Given the description of an element on the screen output the (x, y) to click on. 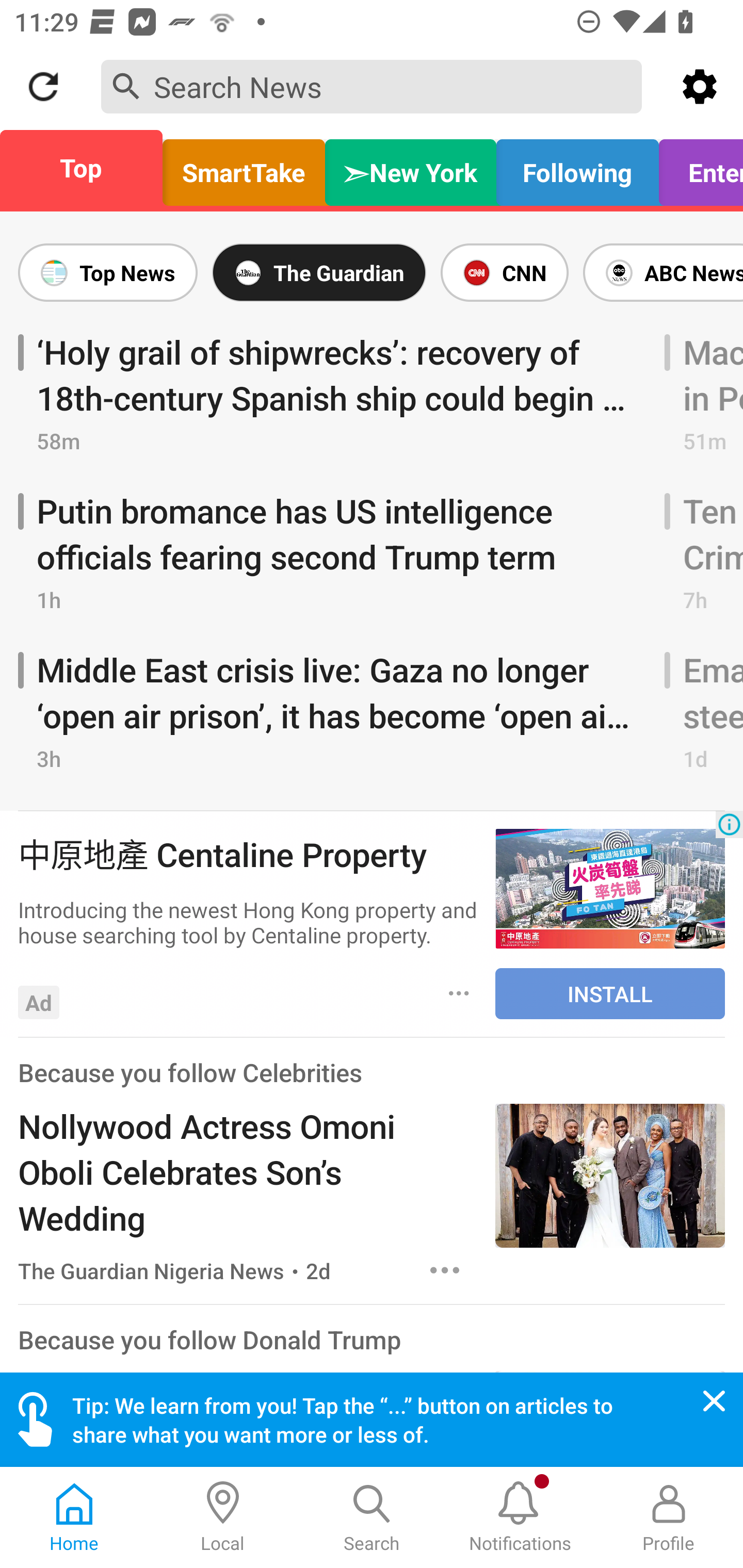
Search News (371, 85)
Top (86, 167)
SmartTake (243, 167)
➣New York (410, 167)
Following (577, 167)
Top News (111, 272)
CNN (504, 272)
Ad Choices Icon (729, 824)
中原地產 Centaline Property (247, 852)
INSTALL (610, 993)
Options (459, 993)
Because you follow Celebrities (189, 1072)
Options (444, 1270)
Because you follow Donald Trump (209, 1338)
Close (714, 1401)
Local (222, 1517)
Search (371, 1517)
Notifications, New notification Notifications (519, 1517)
Profile (668, 1517)
